Given the description of an element on the screen output the (x, y) to click on. 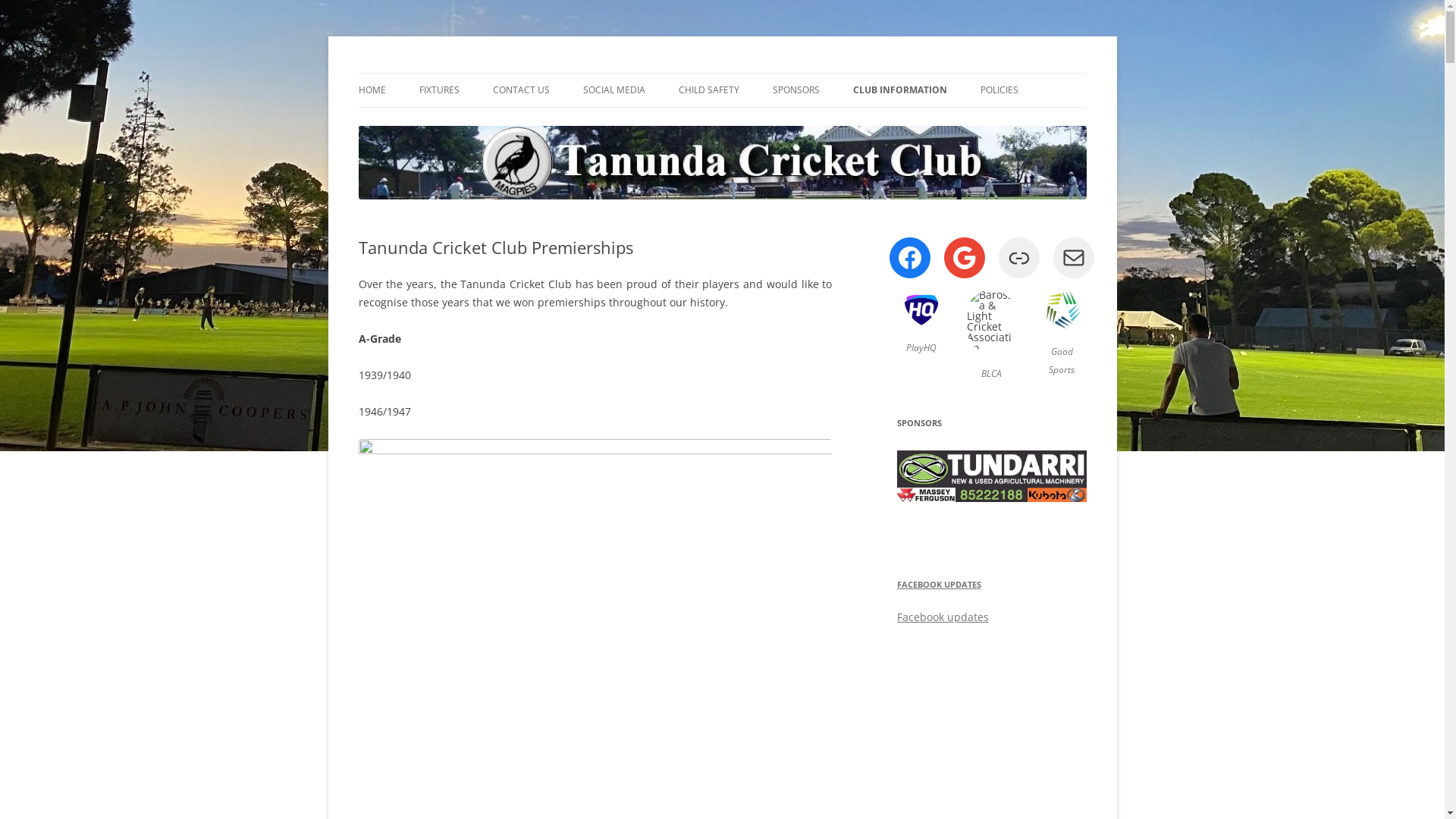
FIXTURES Element type: text (438, 89)
SOCIAL MEDIA Element type: text (613, 89)
Facebook Element type: text (908, 257)
FACEBOOK UPDATES Element type: text (938, 583)
SEASON STATISTICS Element type: text (928, 122)
CHILD SAFETY Element type: text (707, 89)
Skip to content Element type: text (721, 72)
HOME Element type: text (371, 89)
SPONSORS Element type: text (795, 89)
Facebook updates Element type: text (942, 616)
CONTACT US Element type: text (520, 89)
CLUB INFORMATION Element type: text (899, 89)
Mail Element type: text (1072, 257)
POLICIES Element type: text (998, 89)
Tanunda Cricket Club Element type: text (462, 72)
Link Element type: text (1017, 257)
Google Element type: text (963, 257)
